Given the description of an element on the screen output the (x, y) to click on. 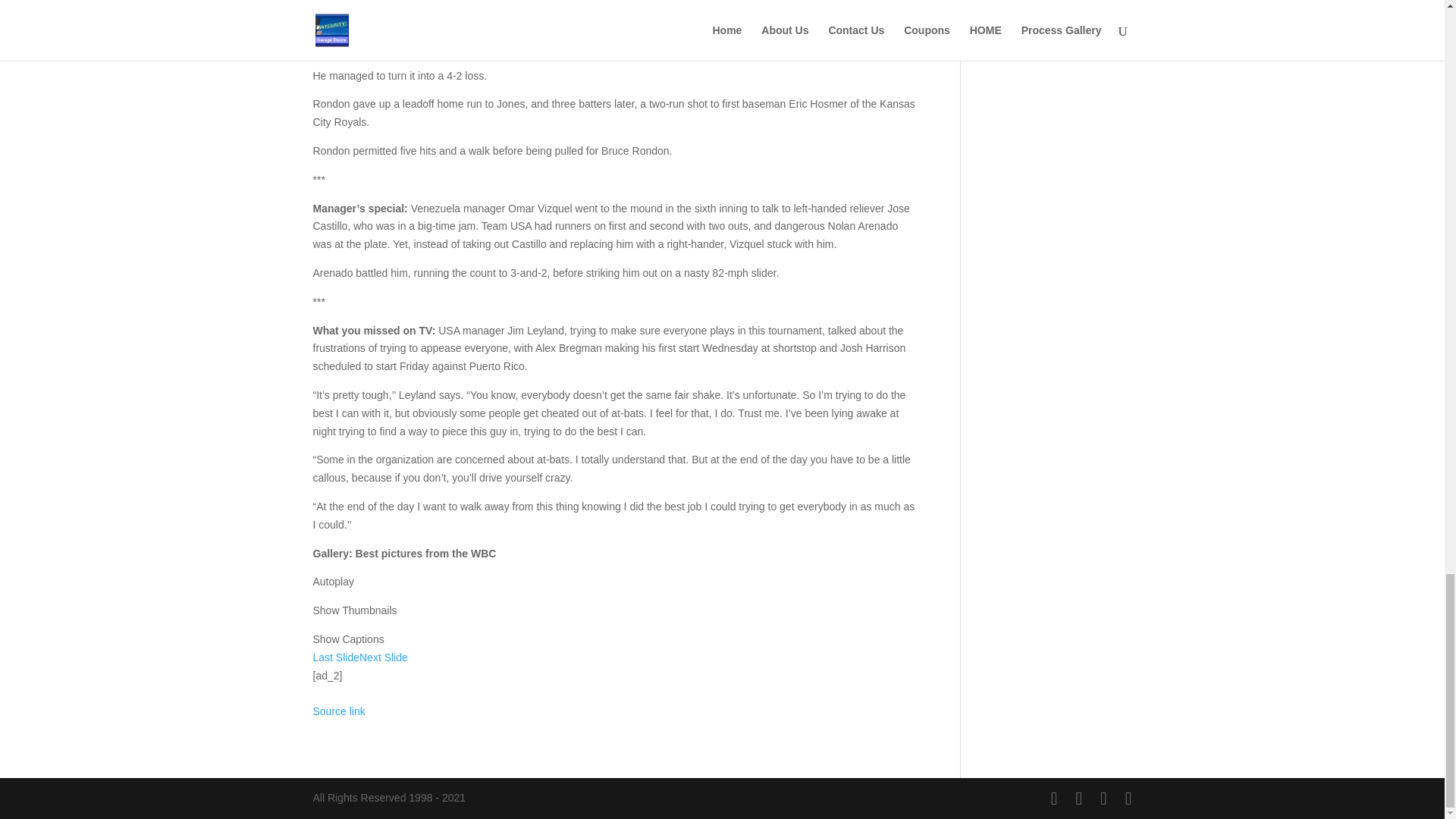
Next Slide (383, 657)
Last Slide (335, 657)
Source link (339, 711)
